Given the description of an element on the screen output the (x, y) to click on. 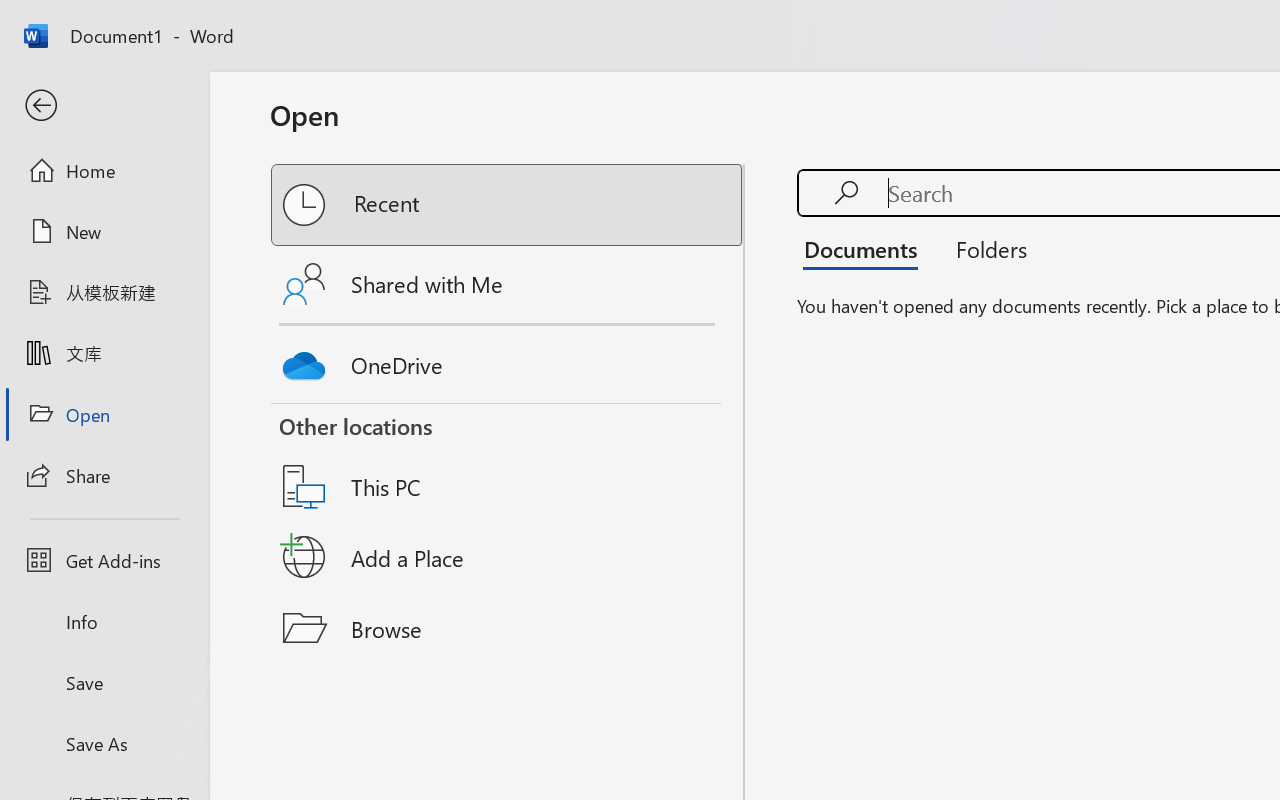
Add a Place (507, 557)
Documents (866, 248)
Info (104, 621)
Folders (984, 248)
Get Add-ins (104, 560)
This PC (507, 461)
Back (104, 106)
Shared with Me (507, 283)
OneDrive (507, 359)
New (104, 231)
Browse (507, 627)
